Given the description of an element on the screen output the (x, y) to click on. 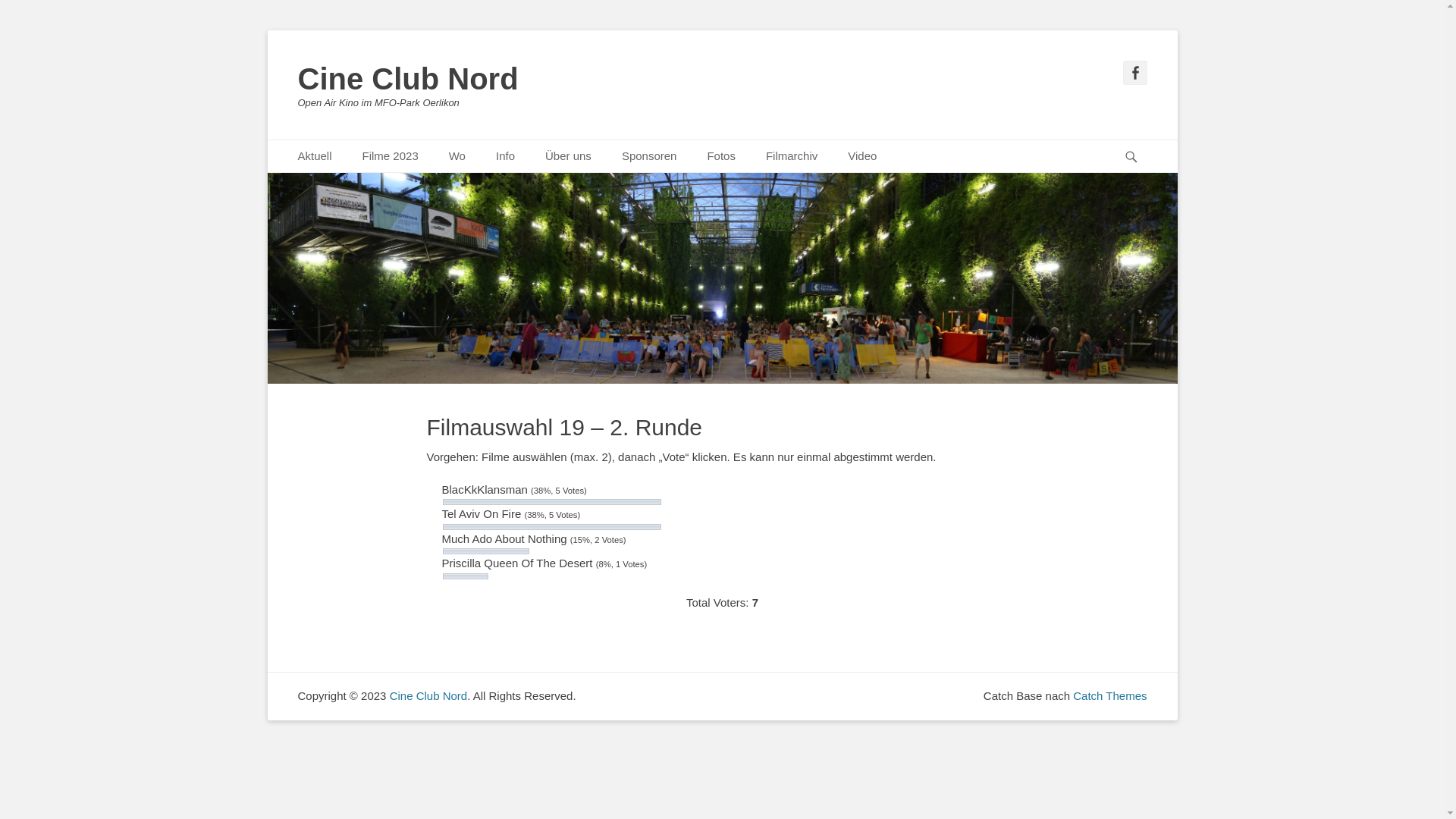
Tel Aviv On Fire (38% | 5 Votes) Element type: hover (552, 527)
Cine Club Nord Element type: text (407, 78)
Fotos Element type: text (720, 156)
Wo Element type: text (456, 156)
Video Element type: text (861, 156)
Cine Club Nord Element type: text (428, 695)
BlacKkKlansman (38% | 5 Votes) Element type: hover (552, 501)
Aktuell Element type: text (314, 156)
Filme 2023 Element type: text (390, 156)
Facebook Element type: text (1134, 72)
Suchen Element type: text (1137, 139)
Much Ado About Nothing (15% | 2 Votes) Element type: hover (485, 551)
Sponsoren Element type: text (649, 156)
Priscilla Queen Of The Desert (8% | 1 Votes) Element type: hover (465, 576)
Filmarchiv Element type: text (791, 156)
Catch Themes Element type: text (1109, 695)
Info Element type: text (505, 156)
